Given the description of an element on the screen output the (x, y) to click on. 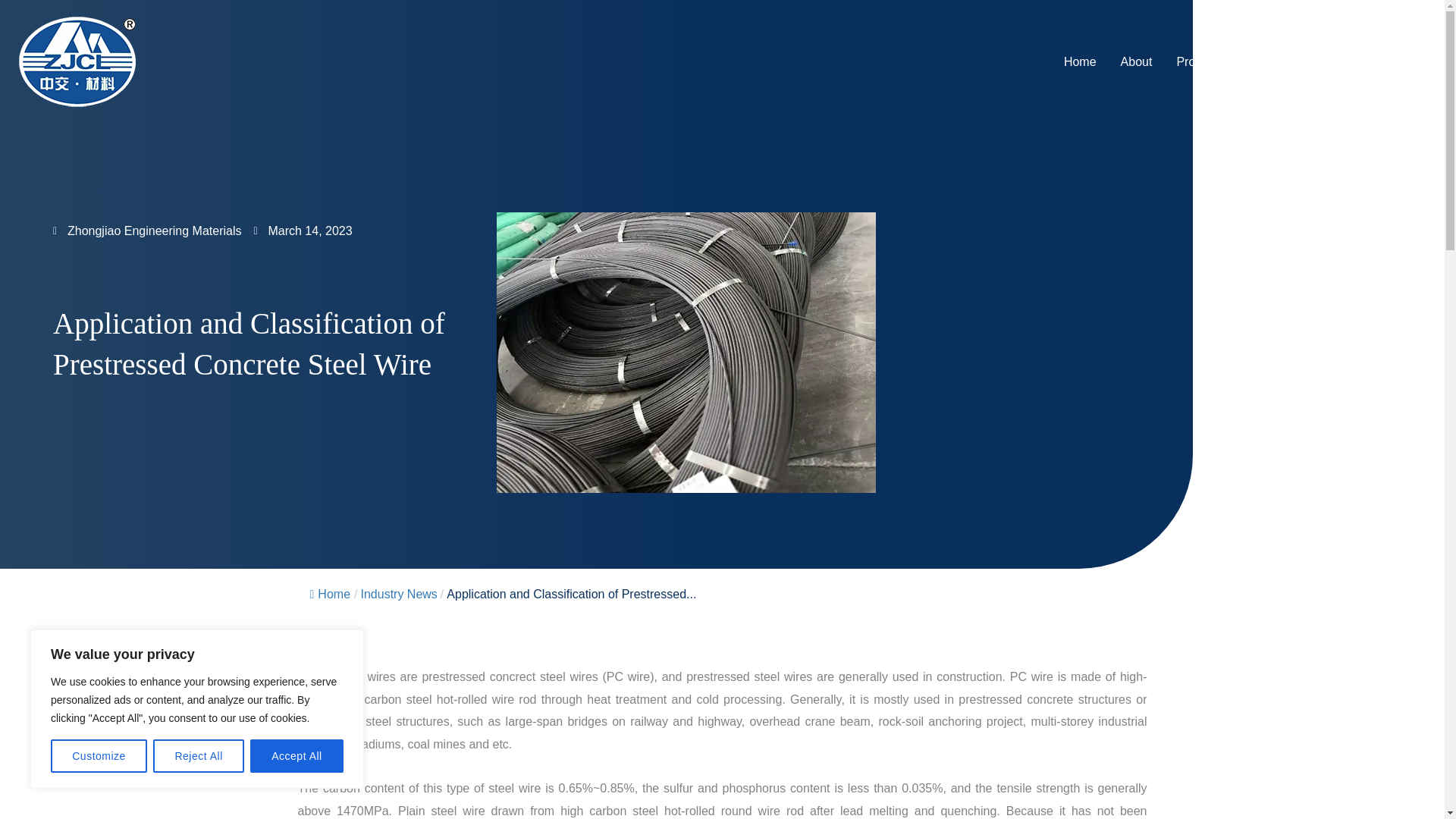
Reject All (198, 756)
Home (329, 594)
Customize (98, 756)
Industry News (397, 594)
Category Name (397, 594)
Accept All (296, 756)
